Given the description of an element on the screen output the (x, y) to click on. 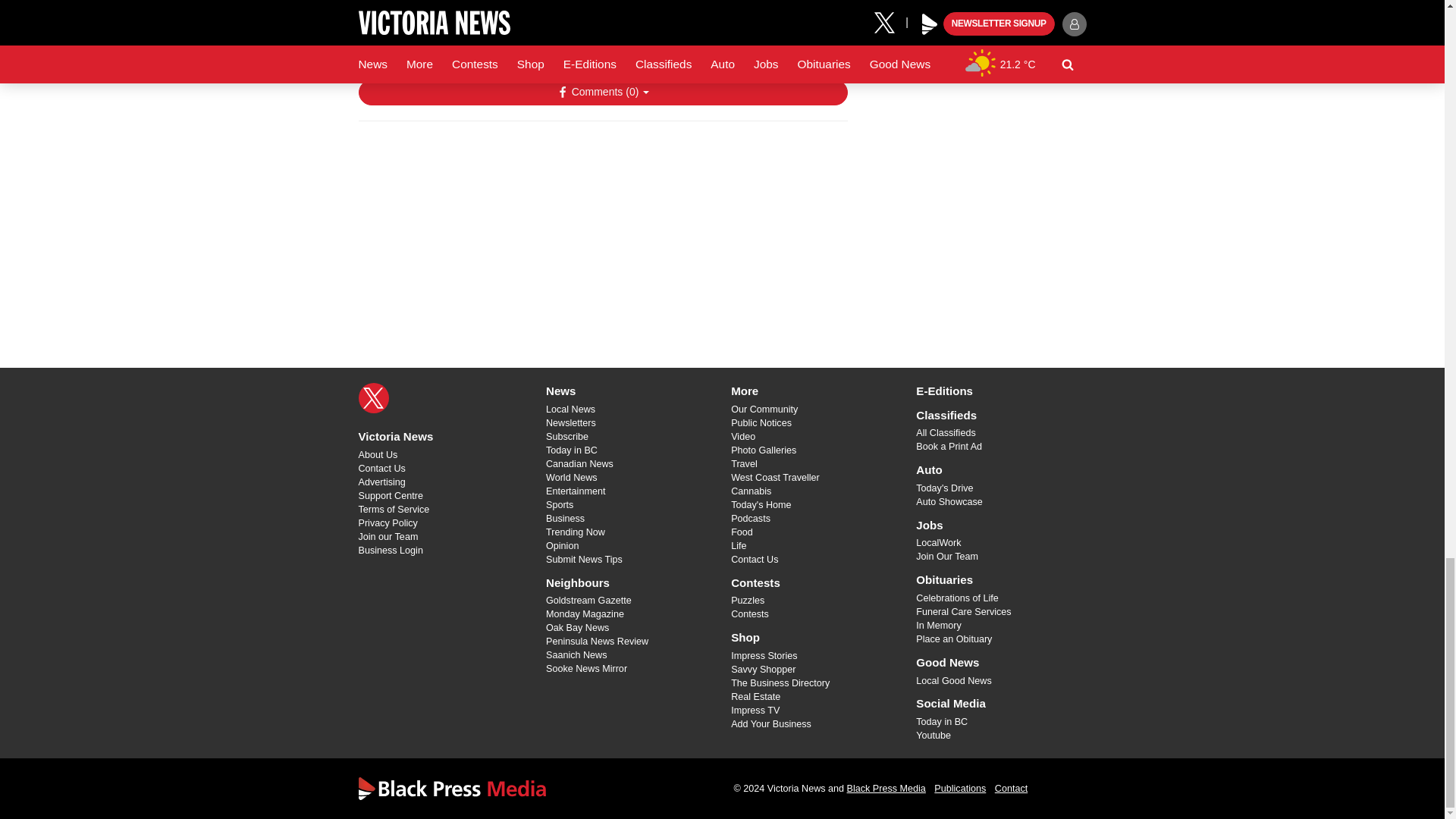
Show Comments (602, 92)
X (373, 398)
3rd party ad content (602, 230)
